Given the description of an element on the screen output the (x, y) to click on. 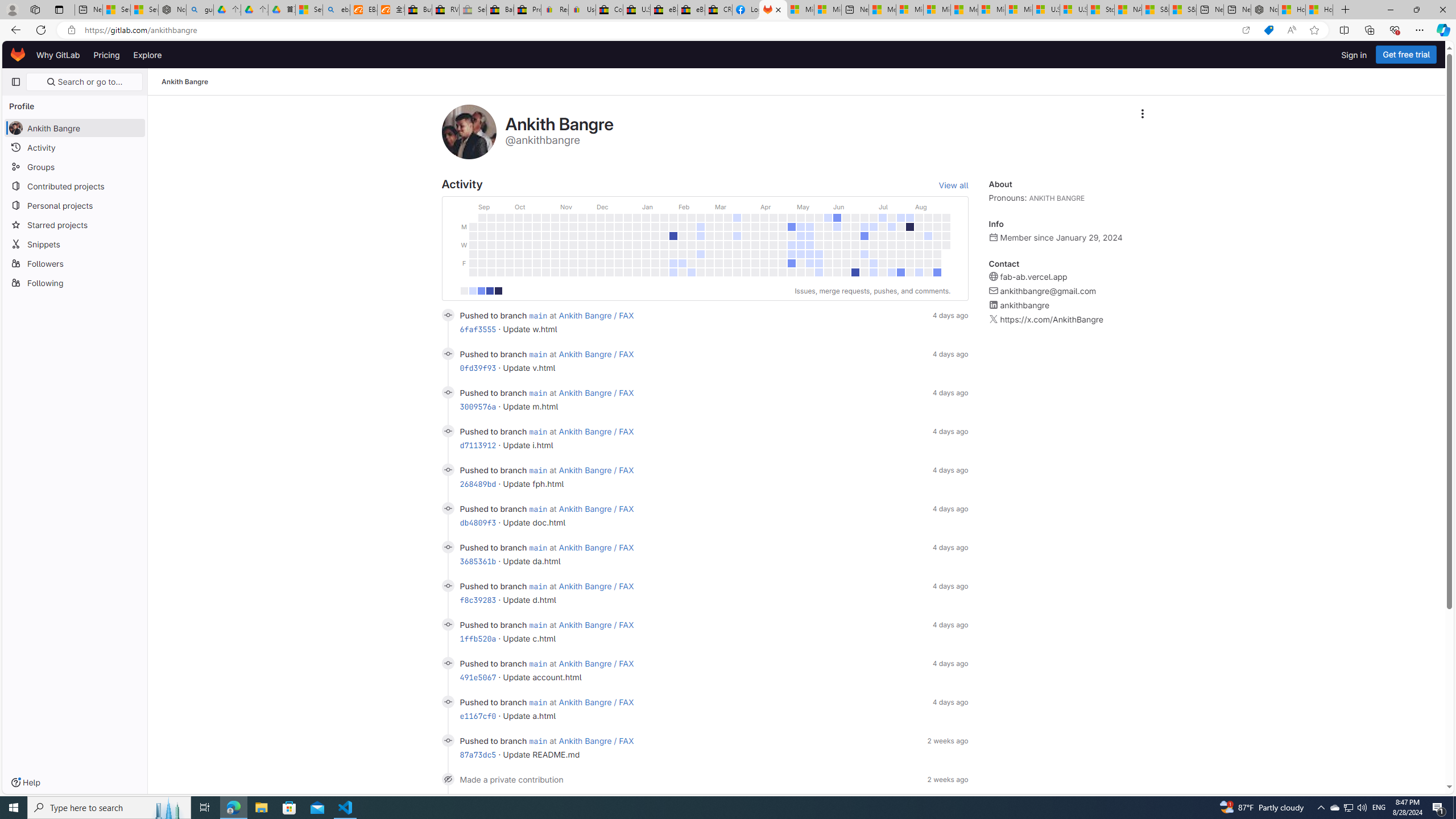
Log into Facebook (746, 9)
avatar Ankith Bangre (74, 127)
